Given the description of an element on the screen output the (x, y) to click on. 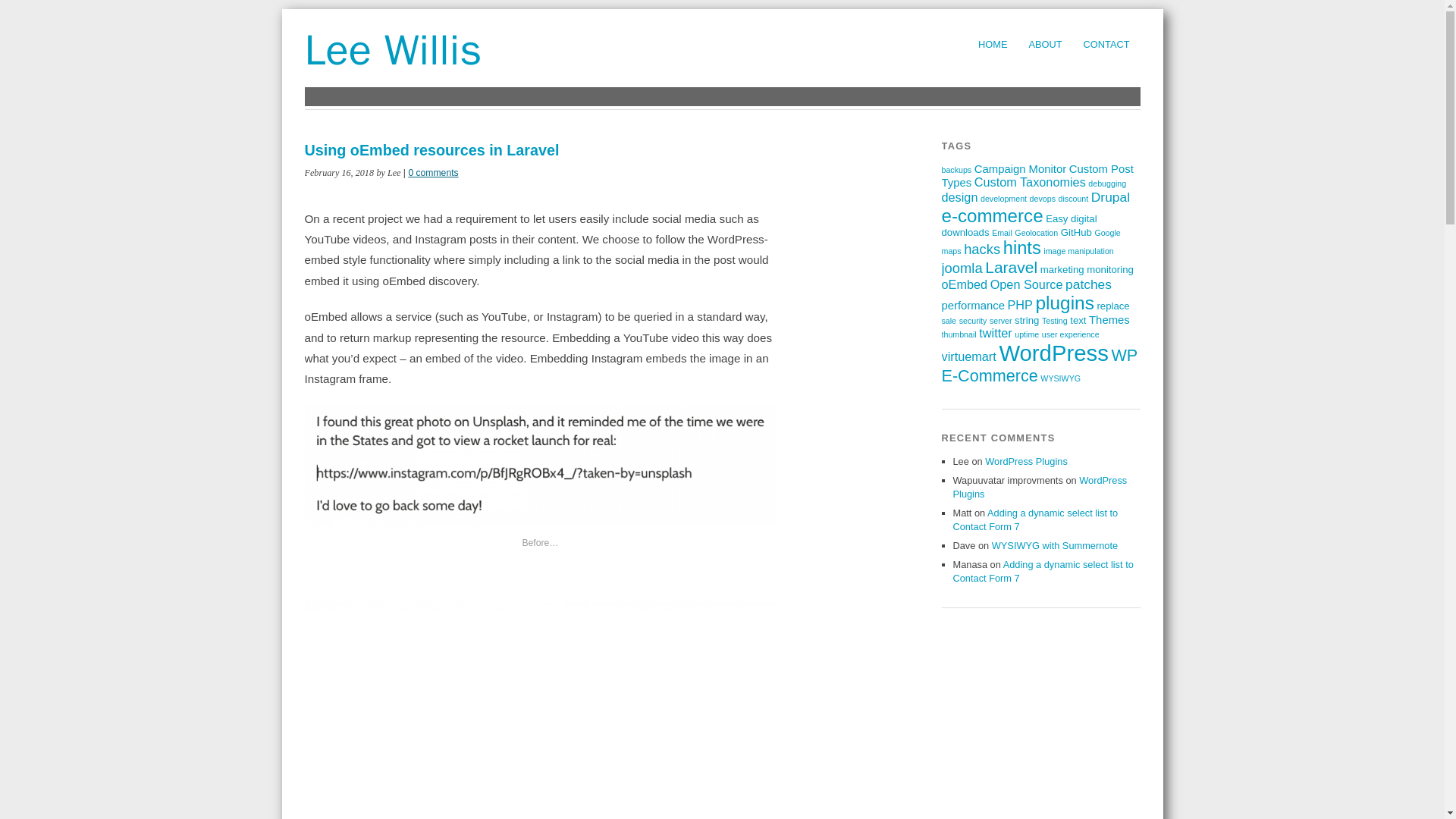
Lee Willis (392, 49)
CONTACT (1106, 43)
Lee Willis (392, 49)
ABOUT (1044, 43)
HOME (992, 43)
0 comments (432, 172)
